Given the description of an element on the screen output the (x, y) to click on. 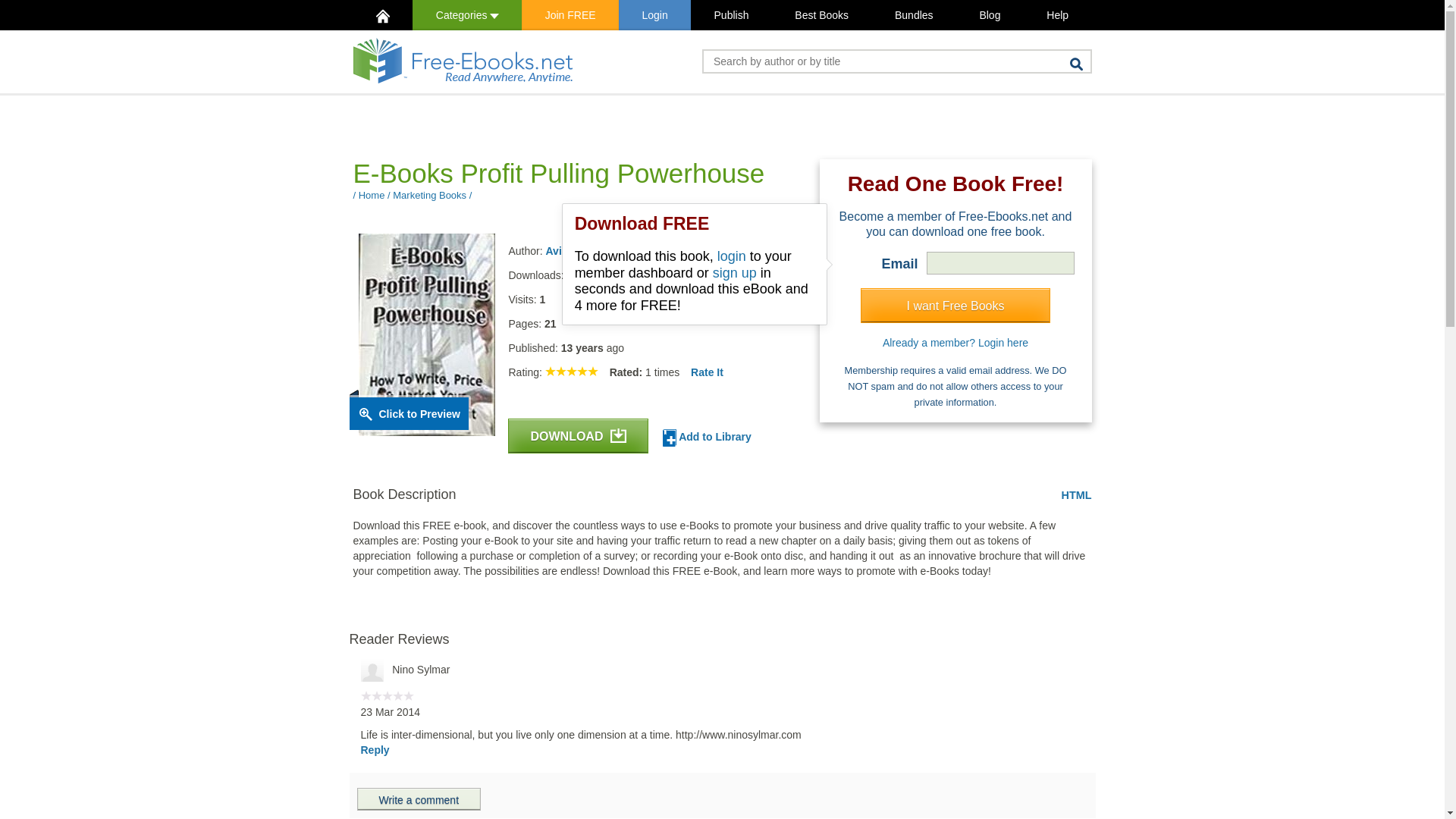
Categories (466, 15)
Write a comment (418, 798)
